Given the description of an element on the screen output the (x, y) to click on. 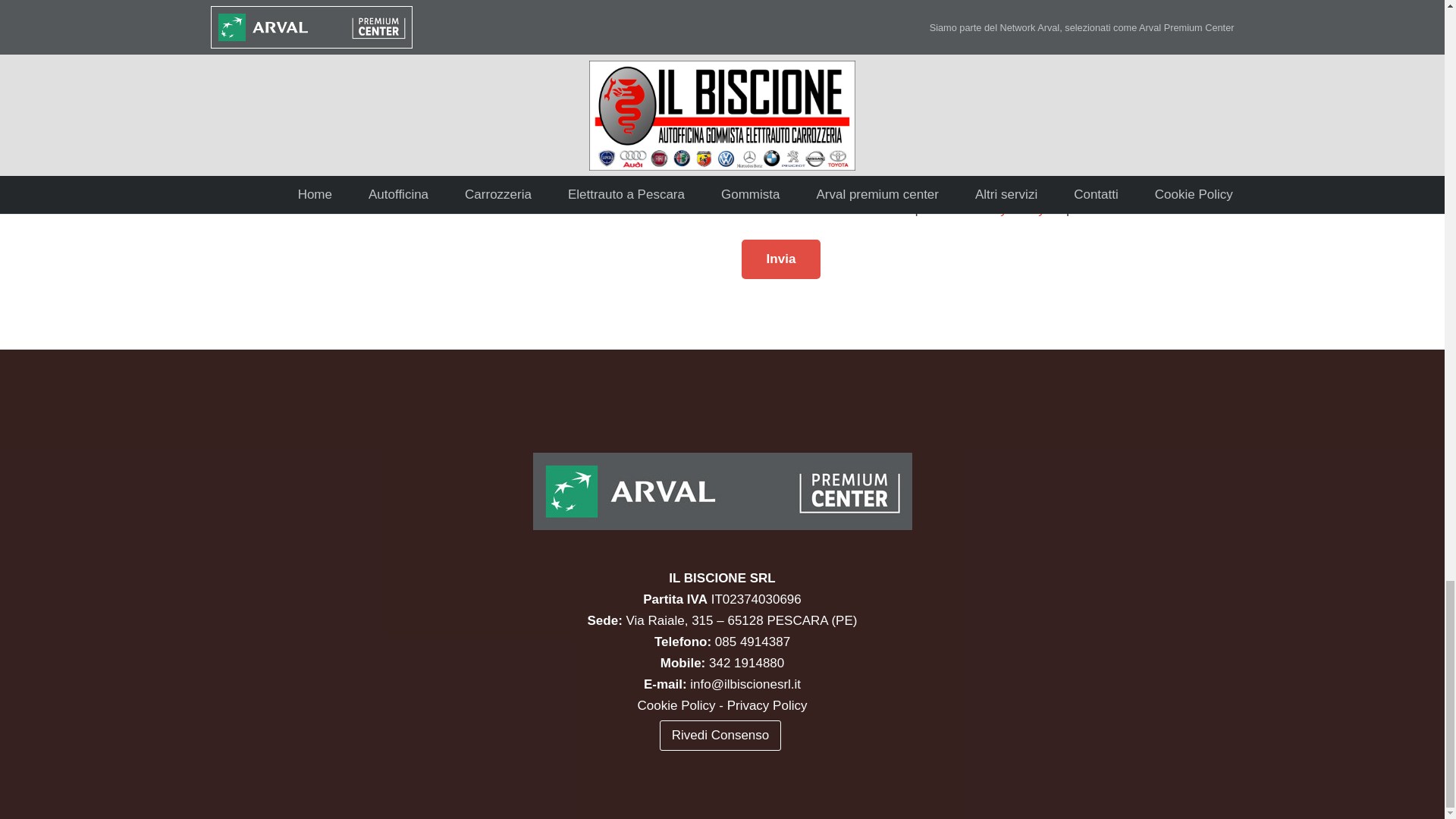
Invia (781, 259)
Privacy Policy (1004, 209)
Invia (781, 259)
1 (746, 204)
Rivedi Consenso (720, 735)
